Given the description of an element on the screen output the (x, y) to click on. 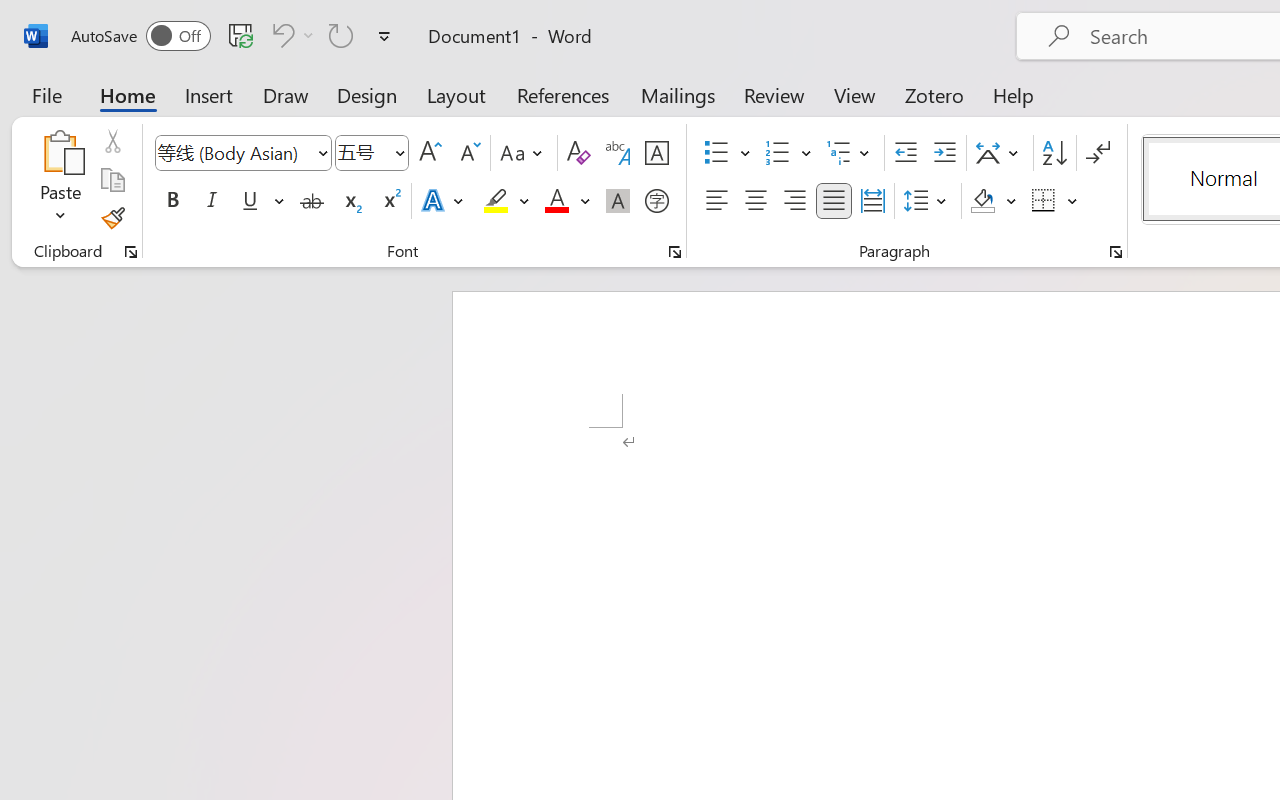
Can't Undo (290, 35)
